Given the description of an element on the screen output the (x, y) to click on. 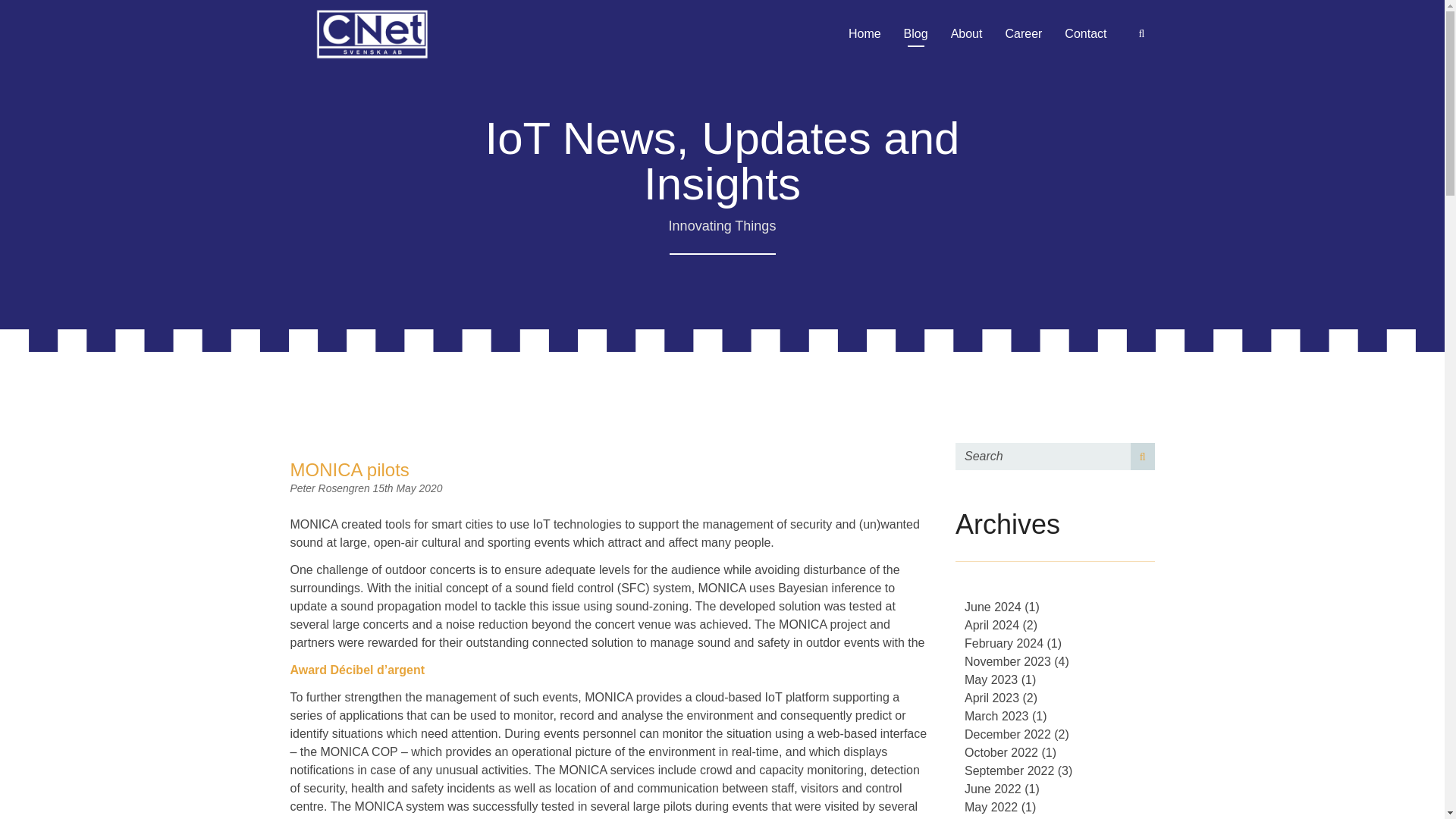
September 2022 (1008, 770)
Peter Rosengren (330, 488)
MONICA pilots (349, 469)
Contact (1085, 33)
May 2023 (990, 679)
May 2022 (990, 807)
February 2024 (1003, 643)
Permalink to MONICA pilots (349, 469)
March 2023 (996, 716)
November 2023 (1007, 661)
Search (1142, 456)
June 2022 (992, 788)
April 2023 (991, 697)
April 2024 (991, 625)
June 2024 (992, 606)
